Given the description of an element on the screen output the (x, y) to click on. 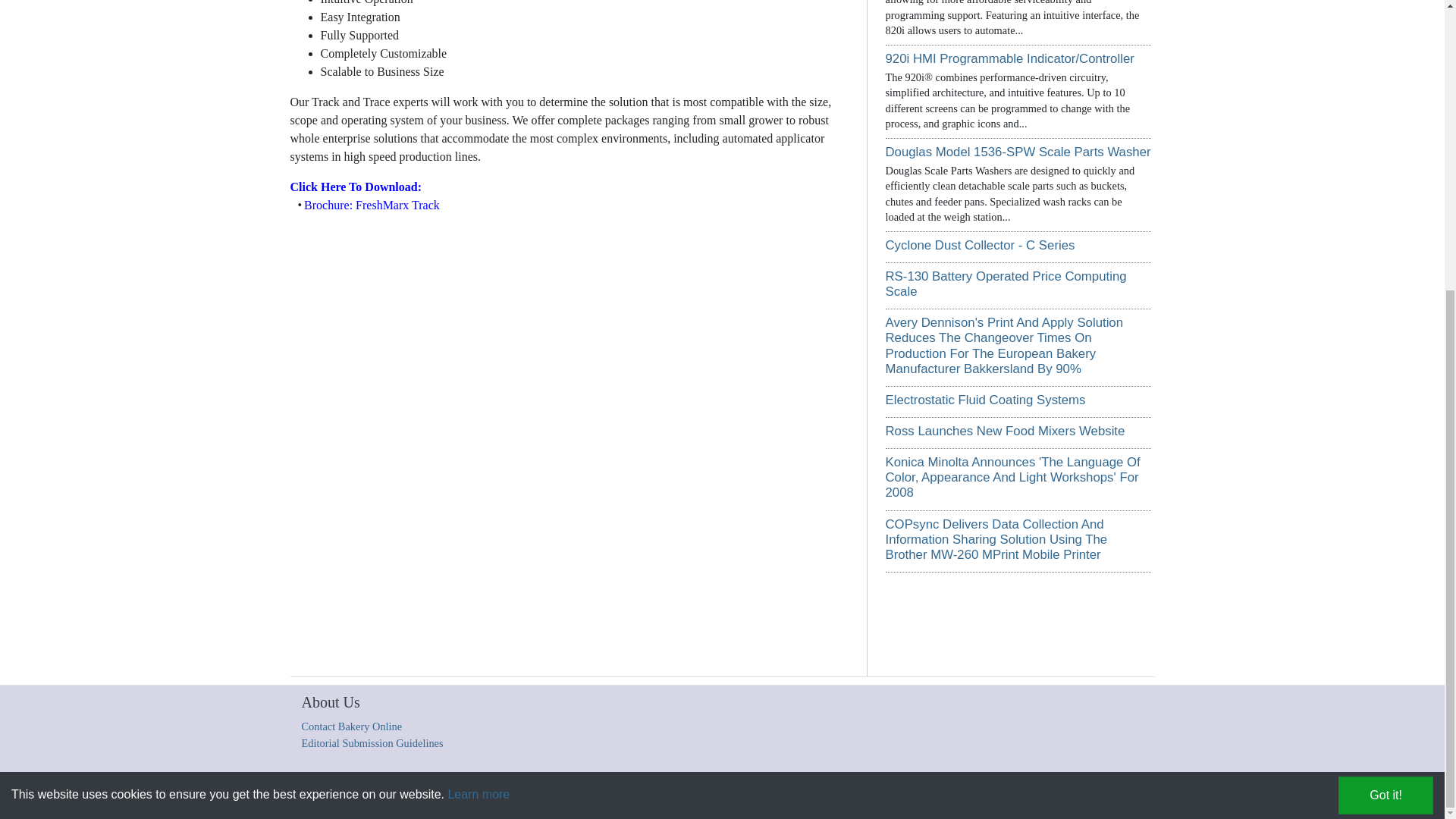
Terms of Use (704, 798)
RS-130 Battery Operated Price Computing Scale (1005, 283)
Privacy Statement (770, 798)
Editorial Submission Guidelines (372, 743)
Copyright (453, 798)
Ross Launches New Food Mixers Website (1005, 431)
Got it! (1385, 353)
Subscriber Request Form (858, 798)
Cyclone Dust Collector - C Series (980, 245)
VertMarkets, Inc. (561, 798)
Electrostatic Fluid Coating Systems (985, 400)
Douglas Model 1536-SPW Scale Parts Washer (1018, 151)
Don't sell my information (960, 798)
